Given the description of an element on the screen output the (x, y) to click on. 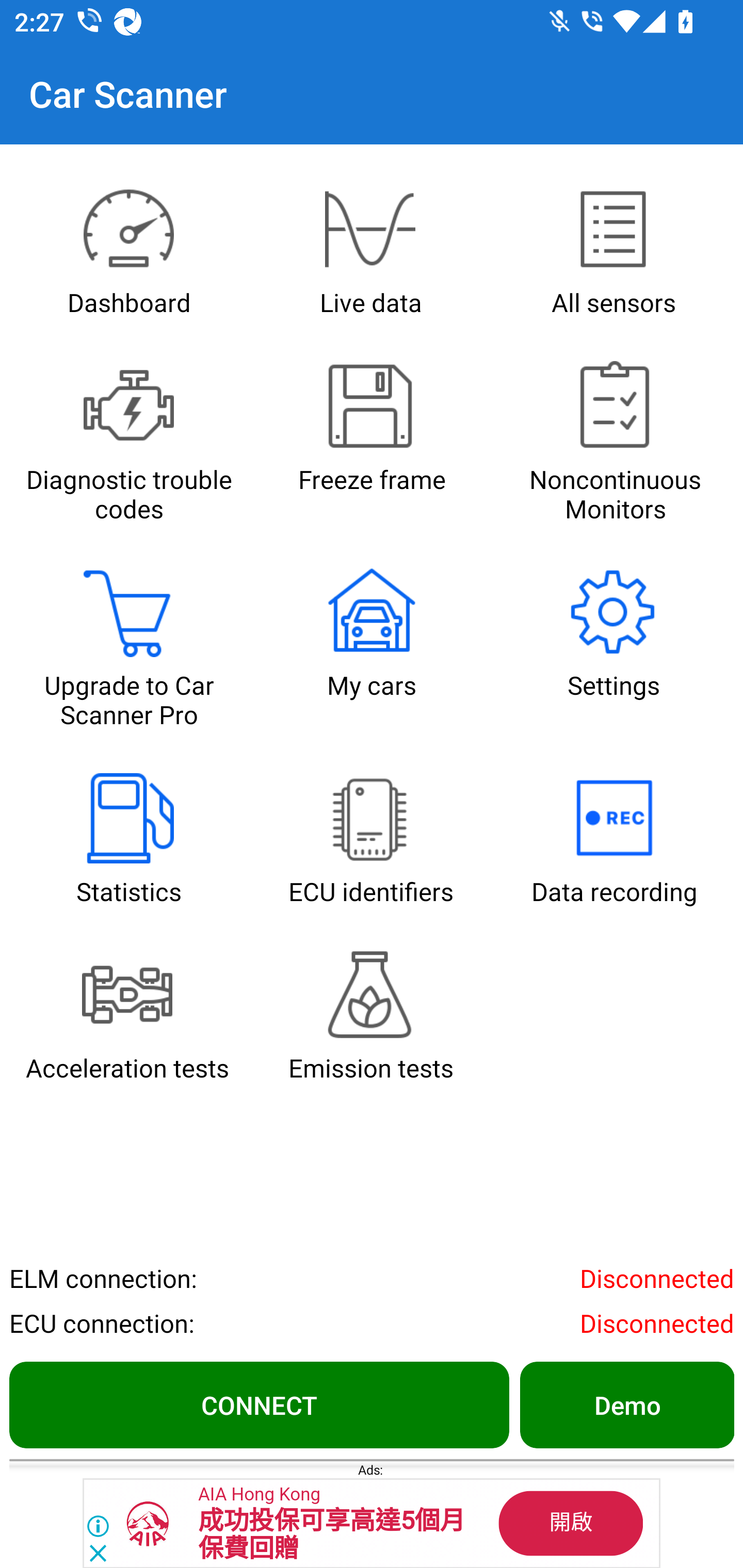
CONNECT (258, 1404)
Demo (627, 1404)
